Given the description of an element on the screen output the (x, y) to click on. 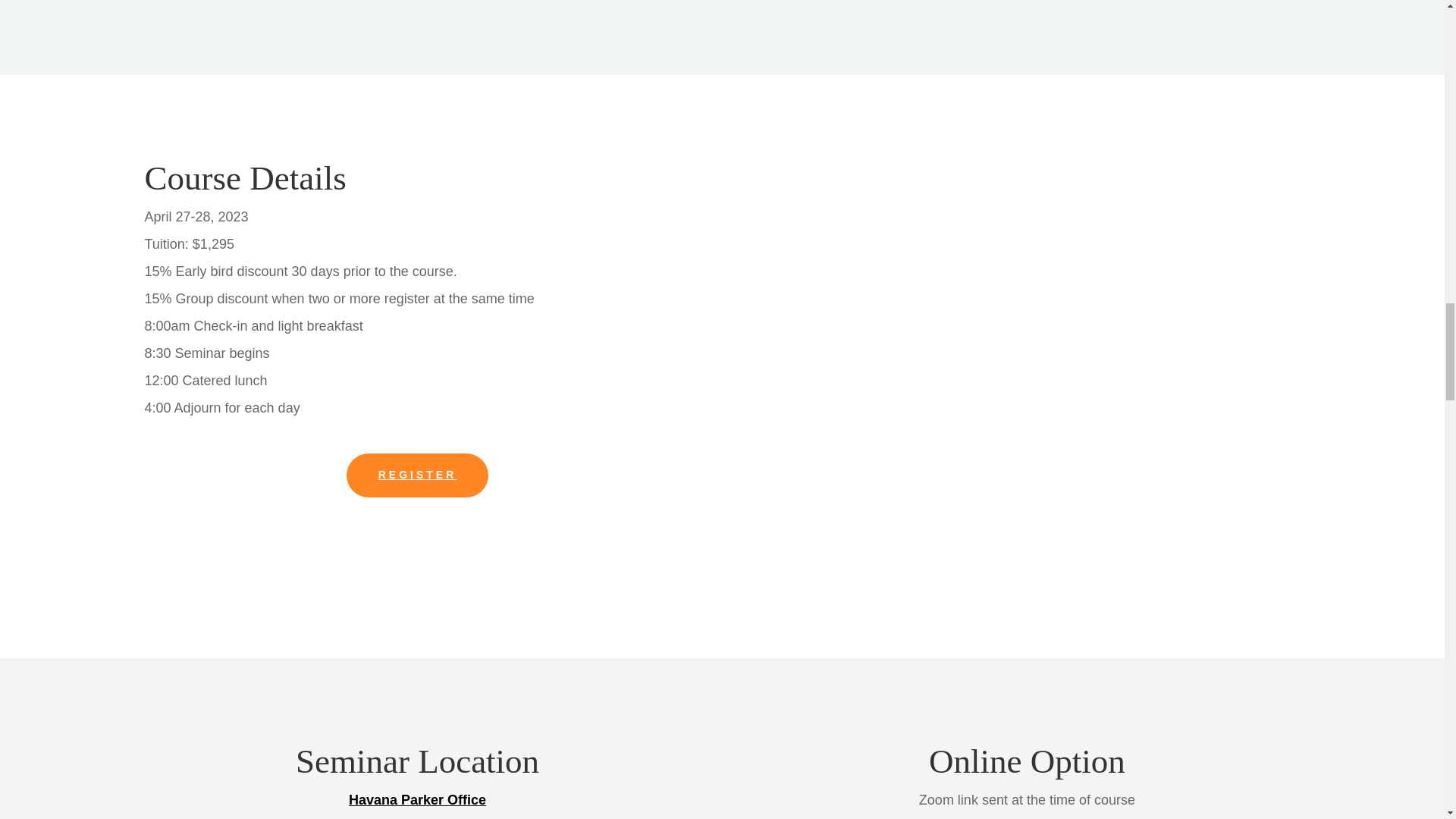
Havana Parker Office (417, 799)
REGISTER (417, 475)
